Given the description of an element on the screen output the (x, y) to click on. 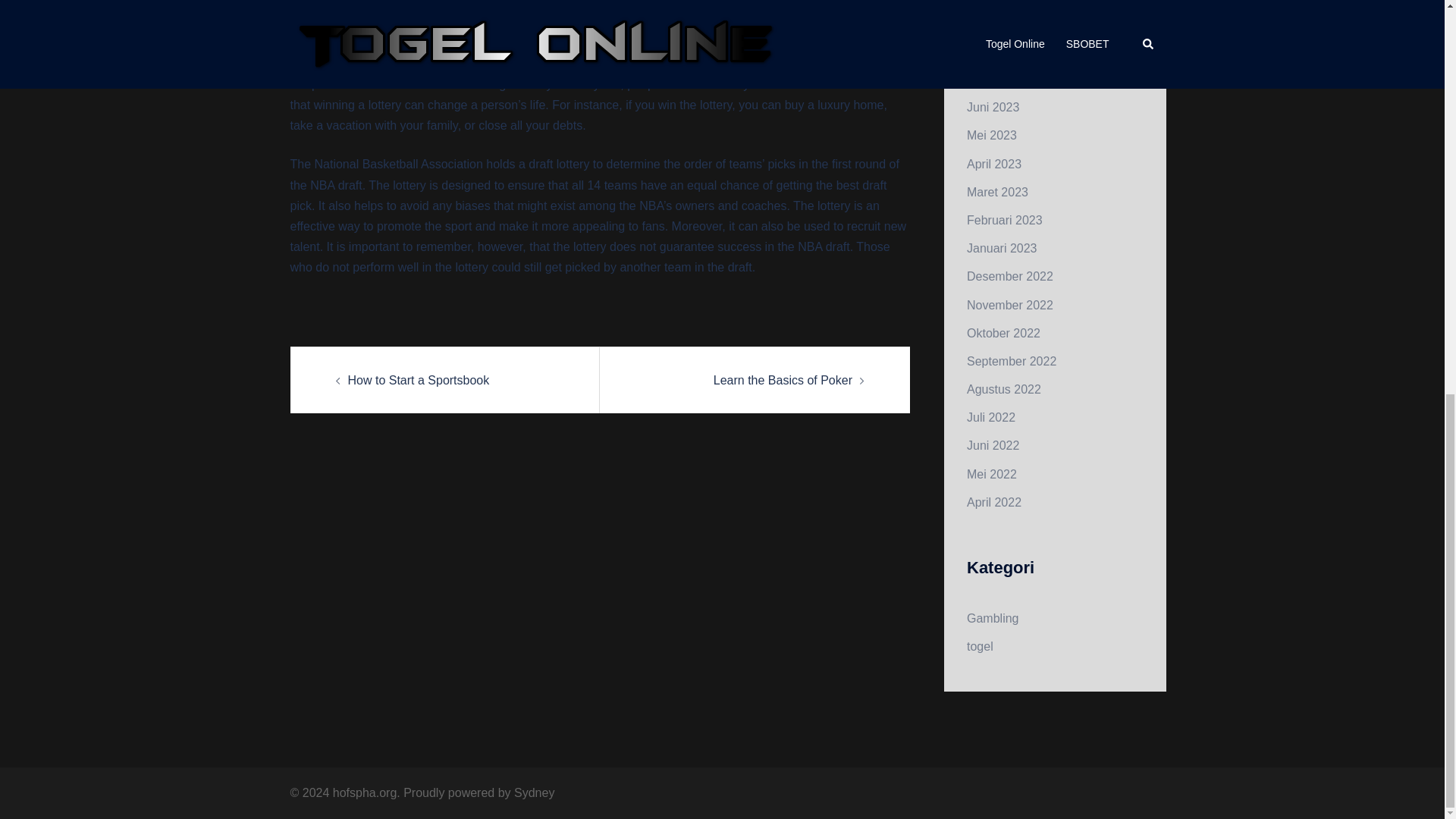
Mei 2023 (991, 134)
Juli 2023 (990, 78)
Juni 2023 (992, 106)
Februari 2023 (1004, 219)
Agustus 2023 (1003, 51)
April 2023 (994, 164)
Learn the Basics of Poker (782, 379)
September 2023 (1011, 22)
Maret 2023 (996, 192)
How to Start a Sportsbook (418, 379)
